Given the description of an element on the screen output the (x, y) to click on. 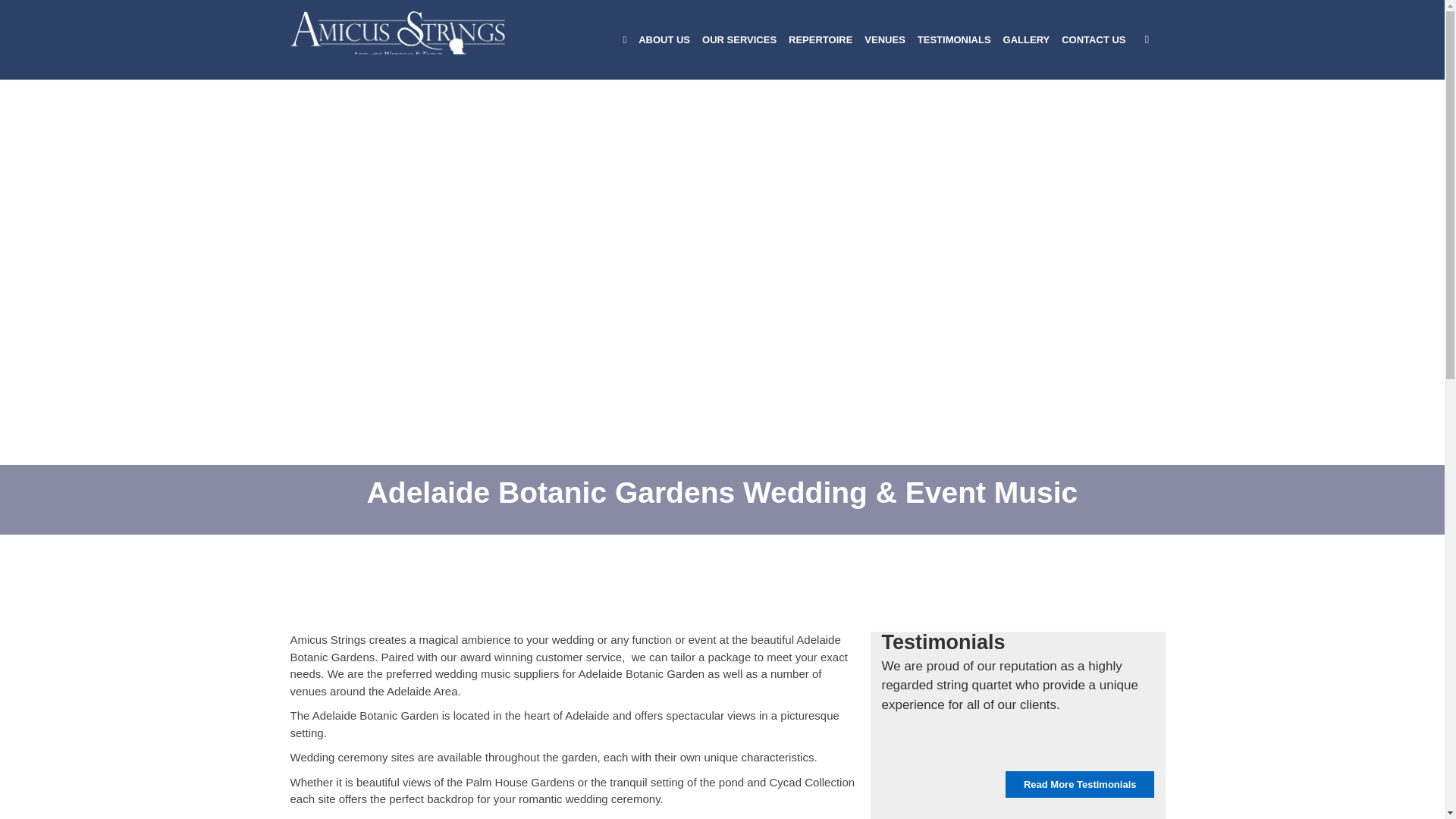
About Us (663, 39)
CONTACT US (1093, 39)
ABOUT US (663, 39)
Our Services (739, 39)
Contact Us (1093, 39)
Read More Testimonials (1080, 784)
VENUES (885, 39)
Gallery (1027, 39)
REPERTOIRE (821, 39)
TESTIMONIALS (954, 39)
